Given the description of an element on the screen output the (x, y) to click on. 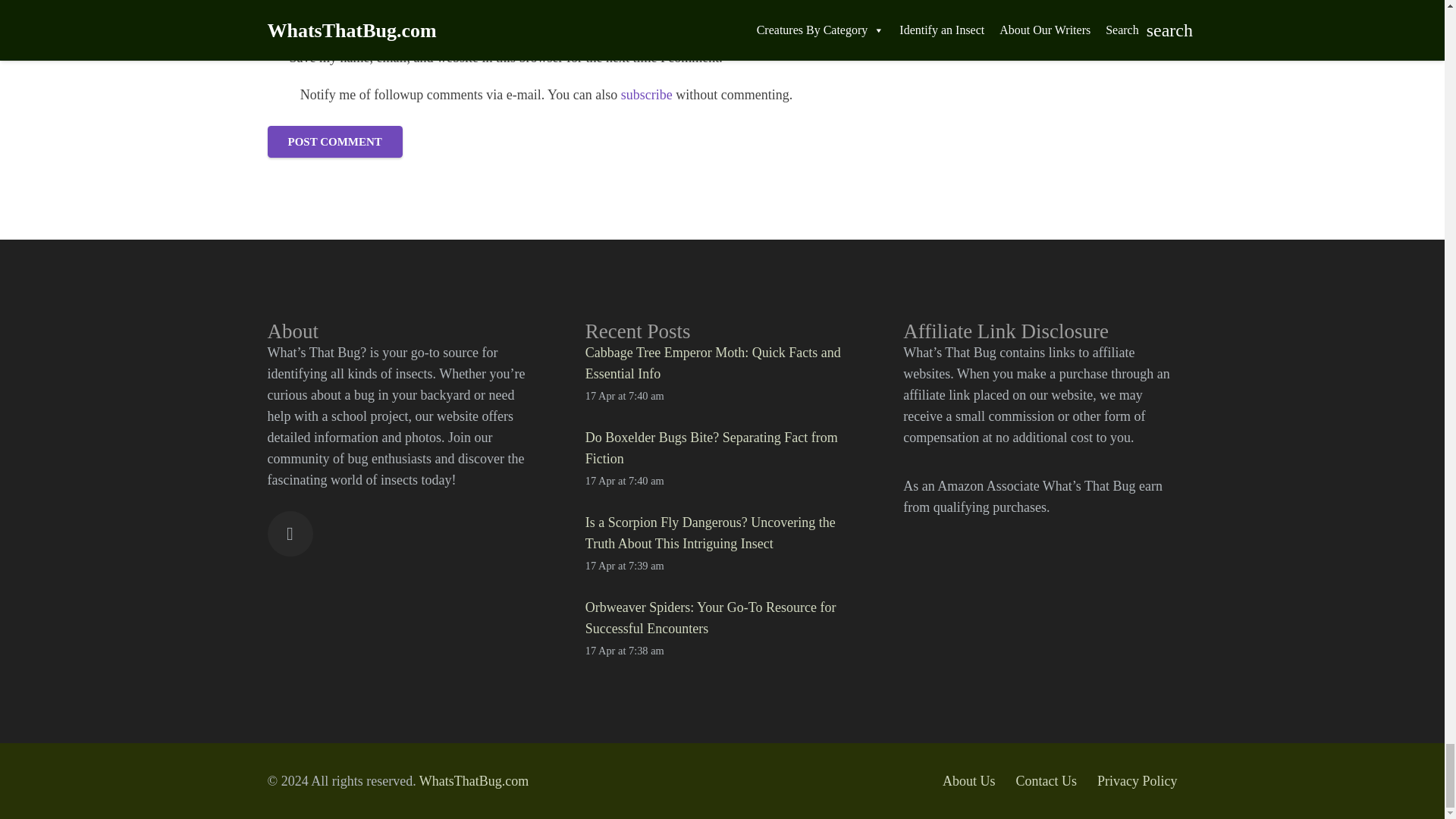
yes (278, 93)
1 (274, 57)
